Given the description of an element on the screen output the (x, y) to click on. 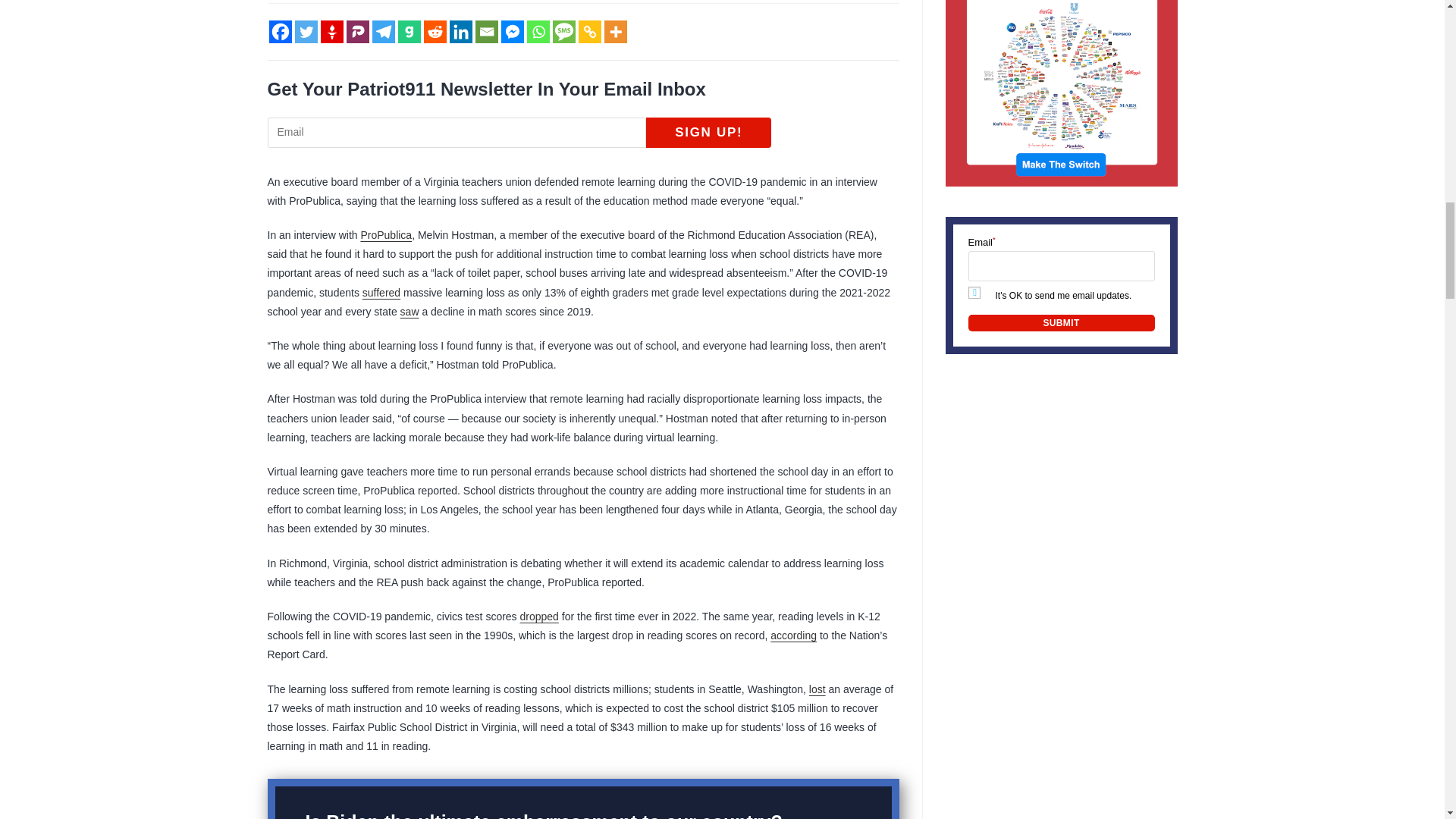
Linkedin (459, 31)
Telegram (382, 31)
Parler (357, 31)
Copy Link (588, 31)
Facebook (279, 31)
Twitter (305, 31)
Whatsapp (536, 31)
SMS (563, 31)
Reddit (434, 31)
More (615, 31)
